Given the description of an element on the screen output the (x, y) to click on. 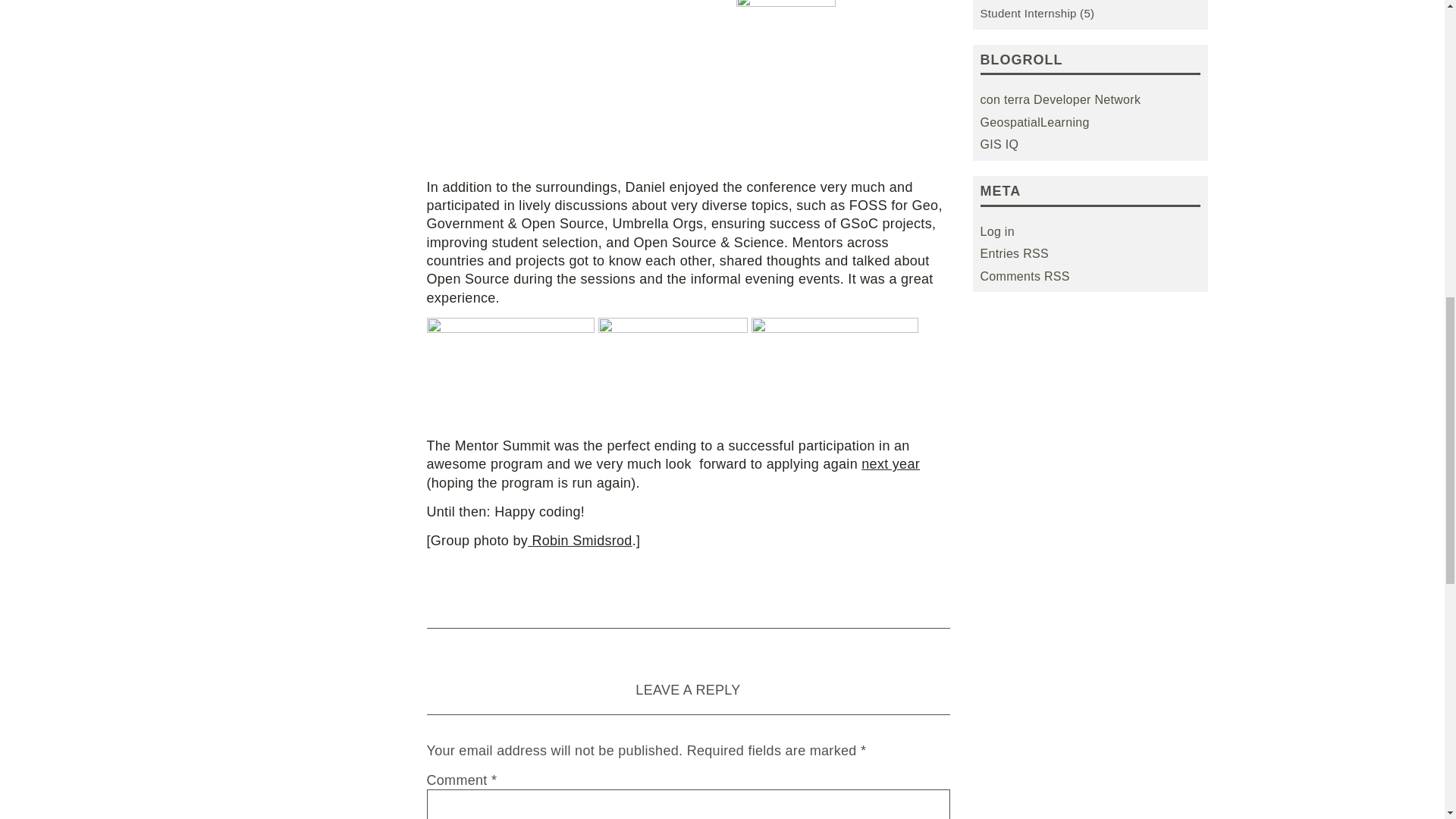
GSoC-MentorSummit-2012-52N-005 (834, 366)
Robin Smidsrod on Flickr (579, 540)
GSoC-MentorSummit-2012-52N-004 (510, 366)
